Given the description of an element on the screen output the (x, y) to click on. 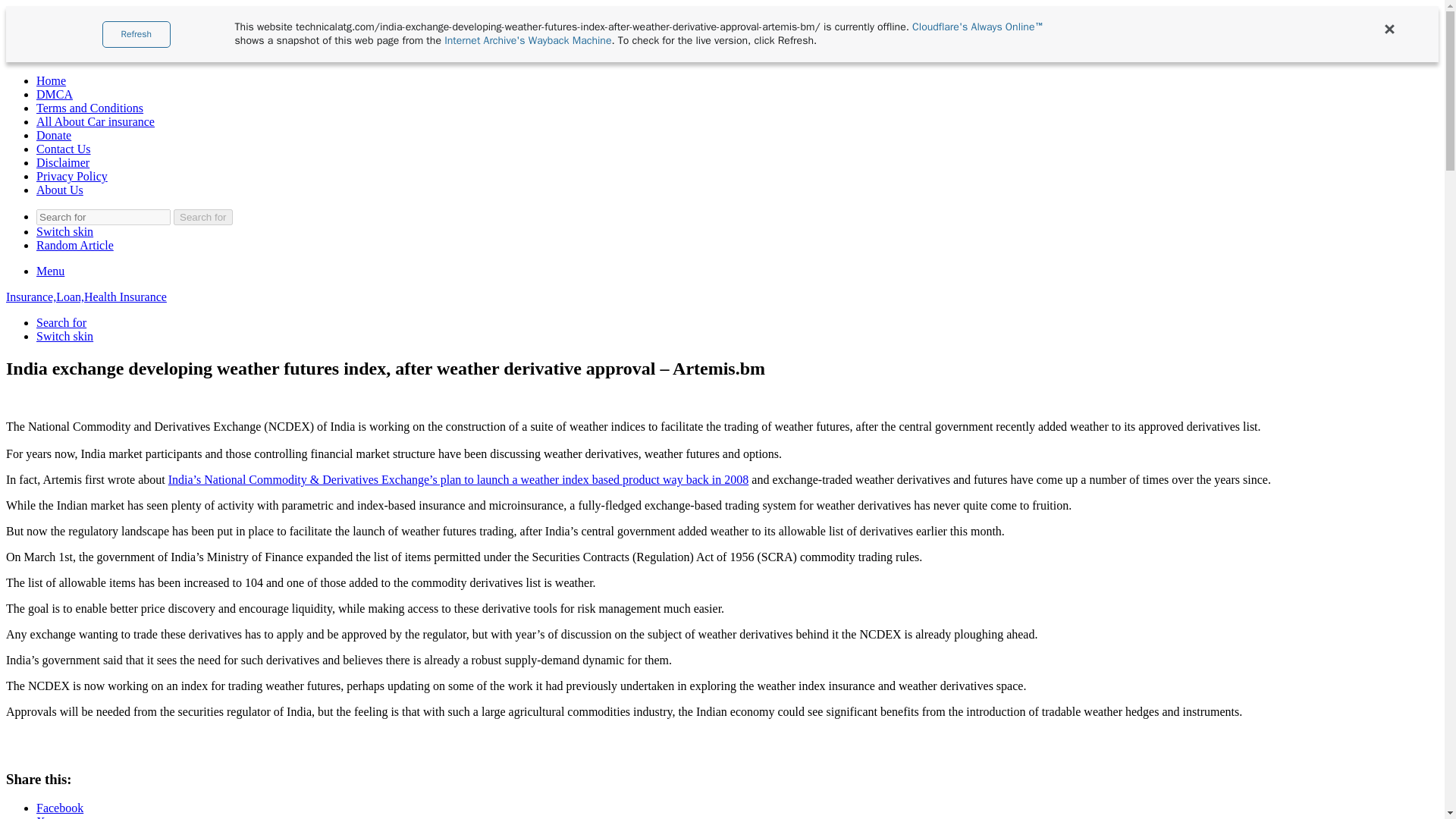
Menu (50, 270)
Search for (103, 217)
Switch skin (64, 336)
DMCA (54, 93)
All About Car insurance (95, 121)
Privacy Policy (71, 175)
Donate (53, 134)
Contact Us (63, 148)
Random Article (74, 245)
Switch skin (64, 336)
About Us (59, 189)
Switch skin (64, 231)
Search for (60, 322)
Search for (202, 217)
Home (50, 80)
